Given the description of an element on the screen output the (x, y) to click on. 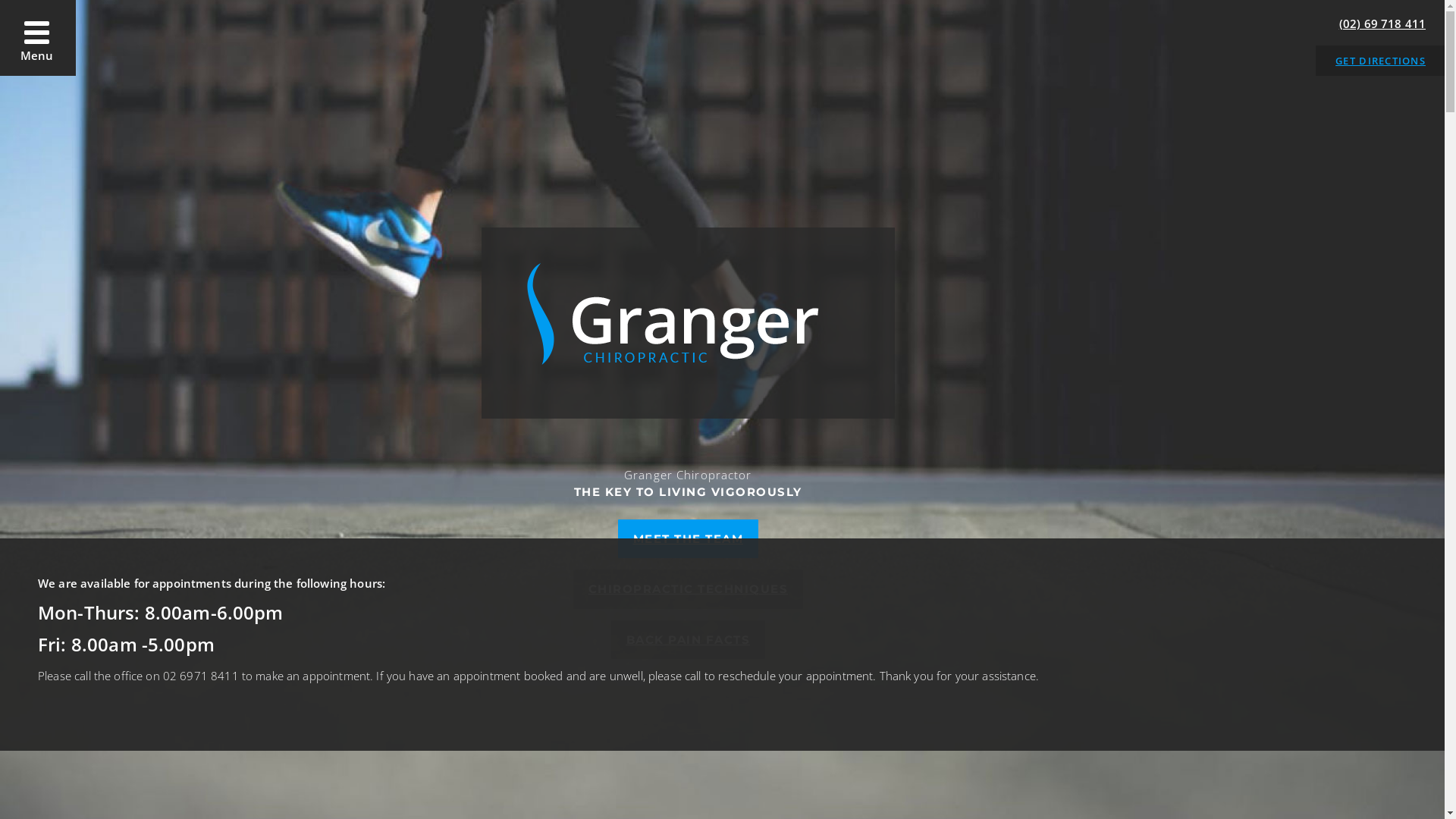
GET DIRECTIONS Element type: text (1380, 60)
(02) 69 718 411 Element type: text (1382, 23)
Menu Element type: text (37, 37)
Skip to main content Element type: text (0, 0)
MEET THE TEAM Element type: text (687, 538)
STRAIGHTEN UP Element type: text (722, 98)
VIEW MAP Element type: text (234, 795)
CHIROPRACTIC TECHNIQUES Element type: text (688, 588)
BACK PAIN FACTS Element type: text (688, 639)
